Given the description of an element on the screen output the (x, y) to click on. 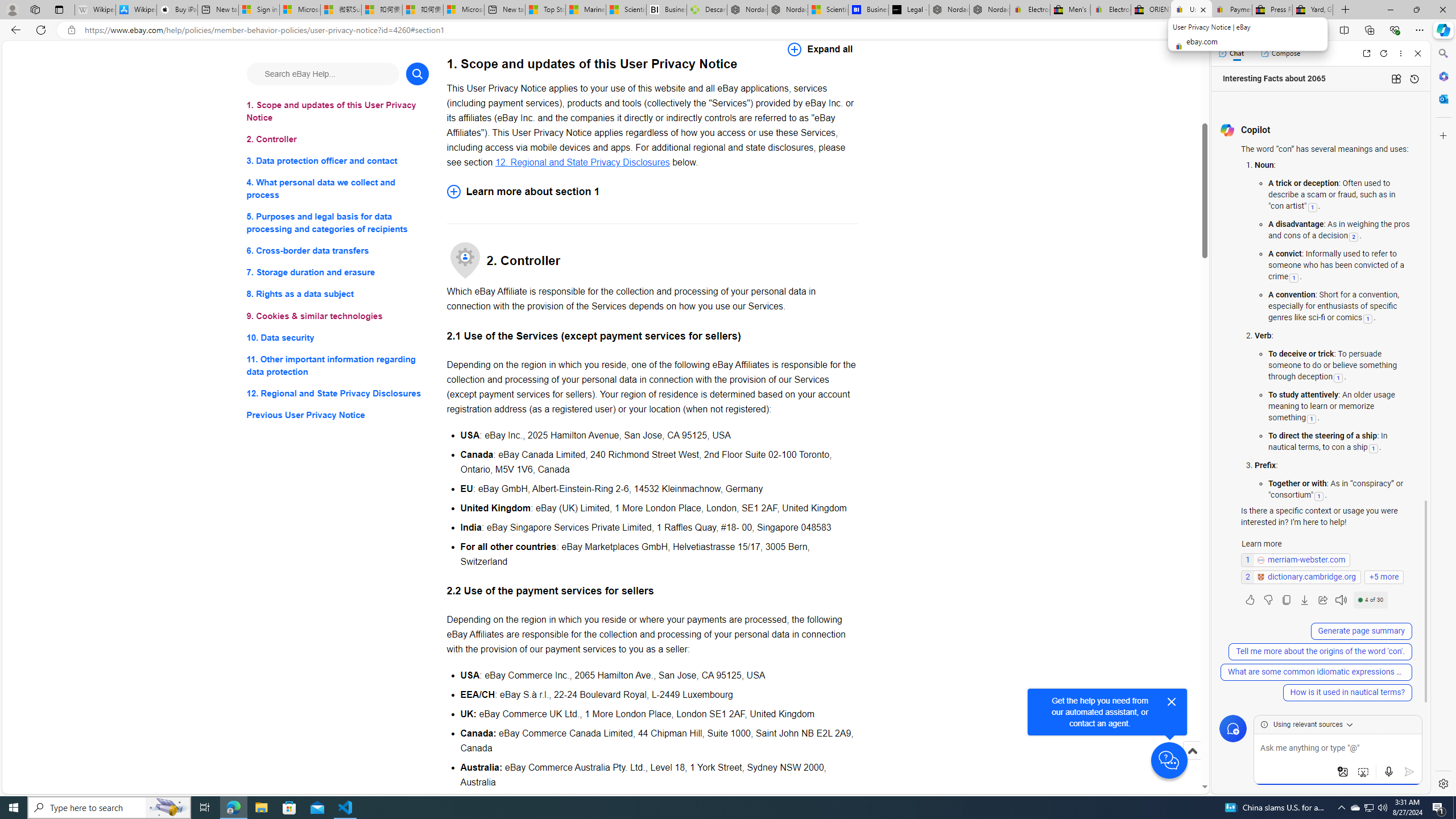
2. Controller (337, 138)
3. Data protection officer and contact (337, 160)
Shopping in Microsoft Edge (1245, 29)
Learn more about section 1 (651, 191)
6. Cross-border data transfers (337, 250)
1. Scope and updates of this User Privacy Notice (337, 111)
Microsoft account | Account Checkup (463, 9)
